Given the description of an element on the screen output the (x, y) to click on. 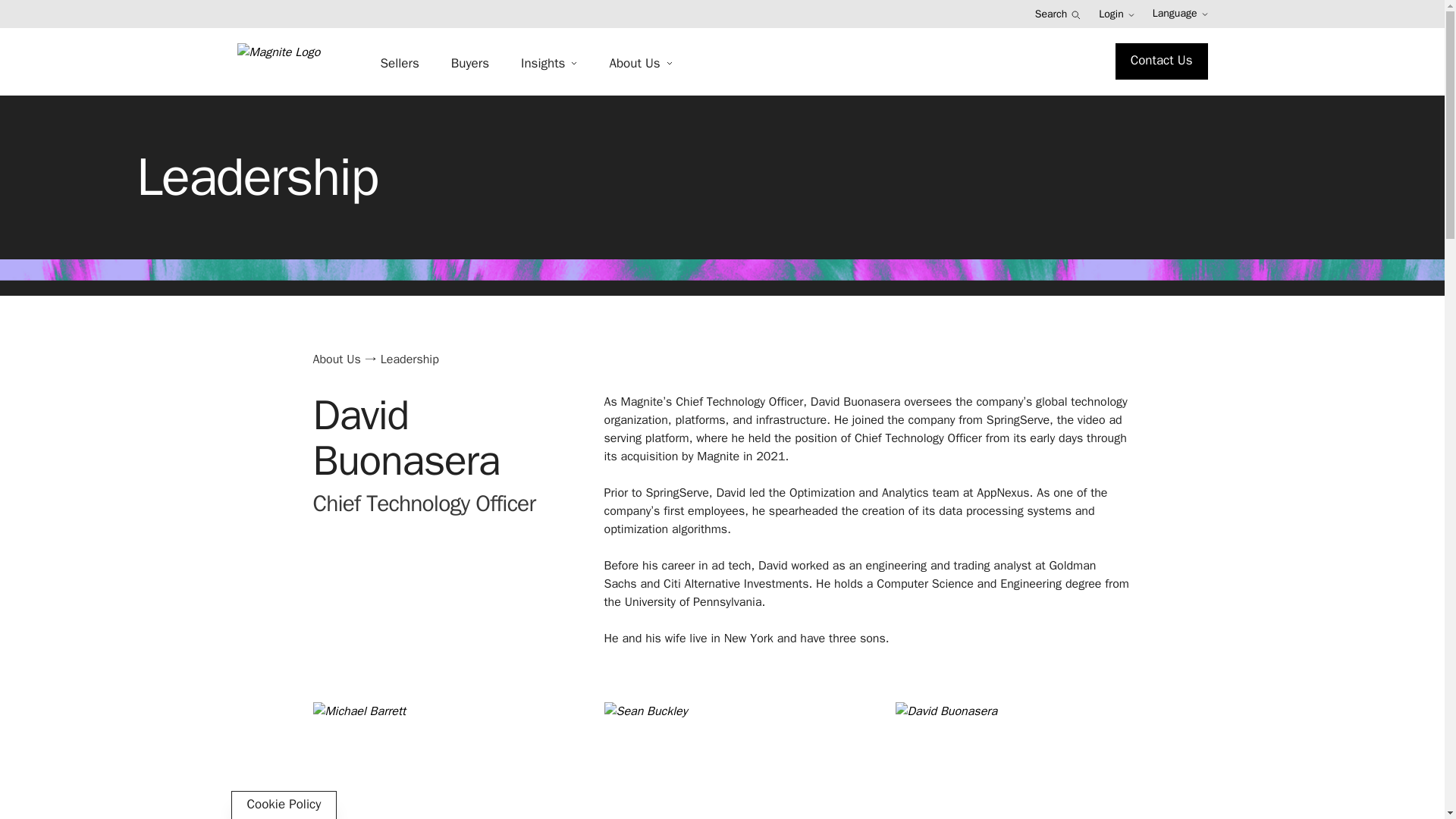
Search (1058, 14)
Login (1116, 14)
Sellers (399, 63)
Insights (548, 63)
Language (1180, 13)
Buyers (470, 63)
